Given the description of an element on the screen output the (x, y) to click on. 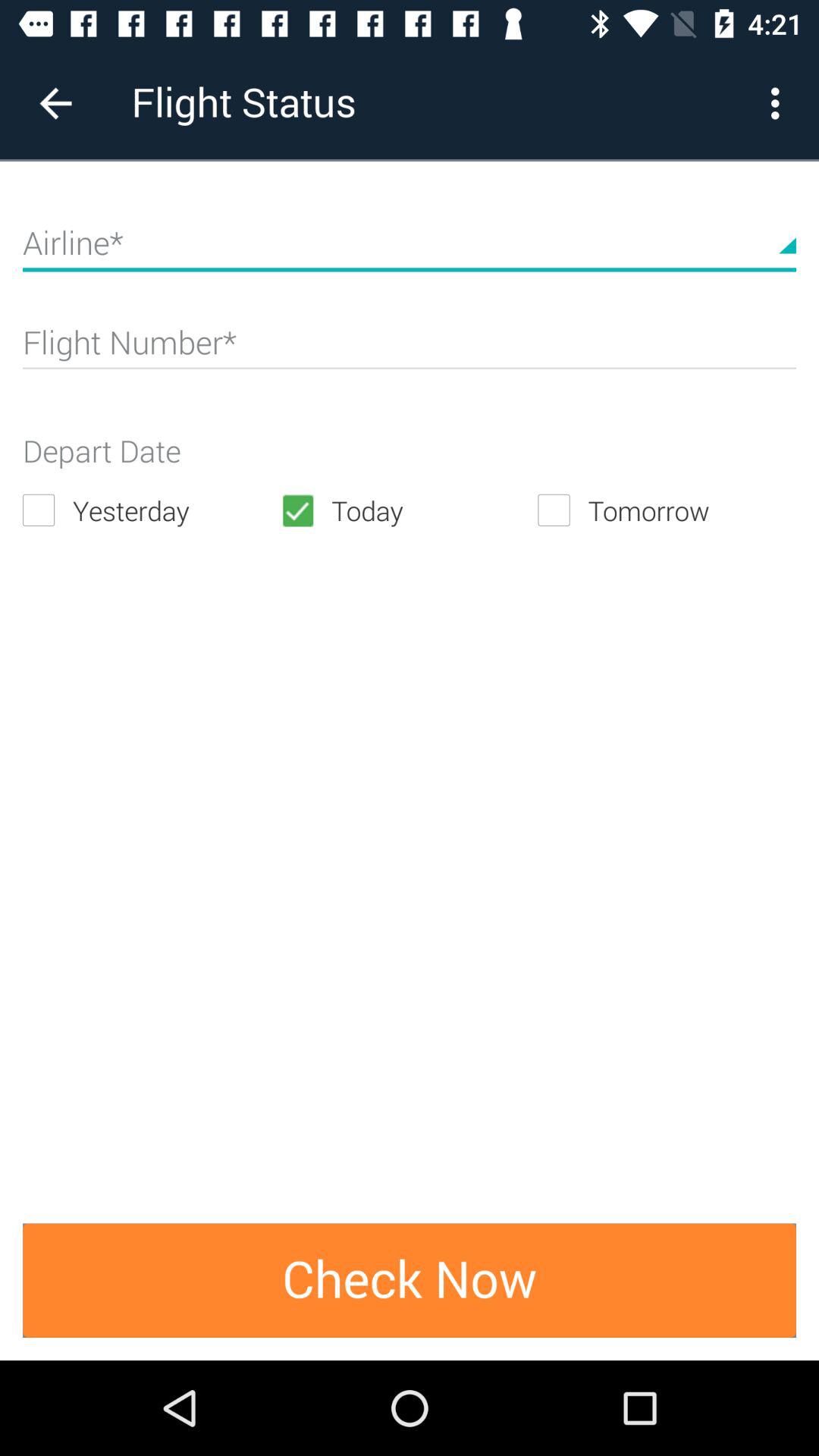
turn off the today icon (409, 510)
